Given the description of an element on the screen output the (x, y) to click on. 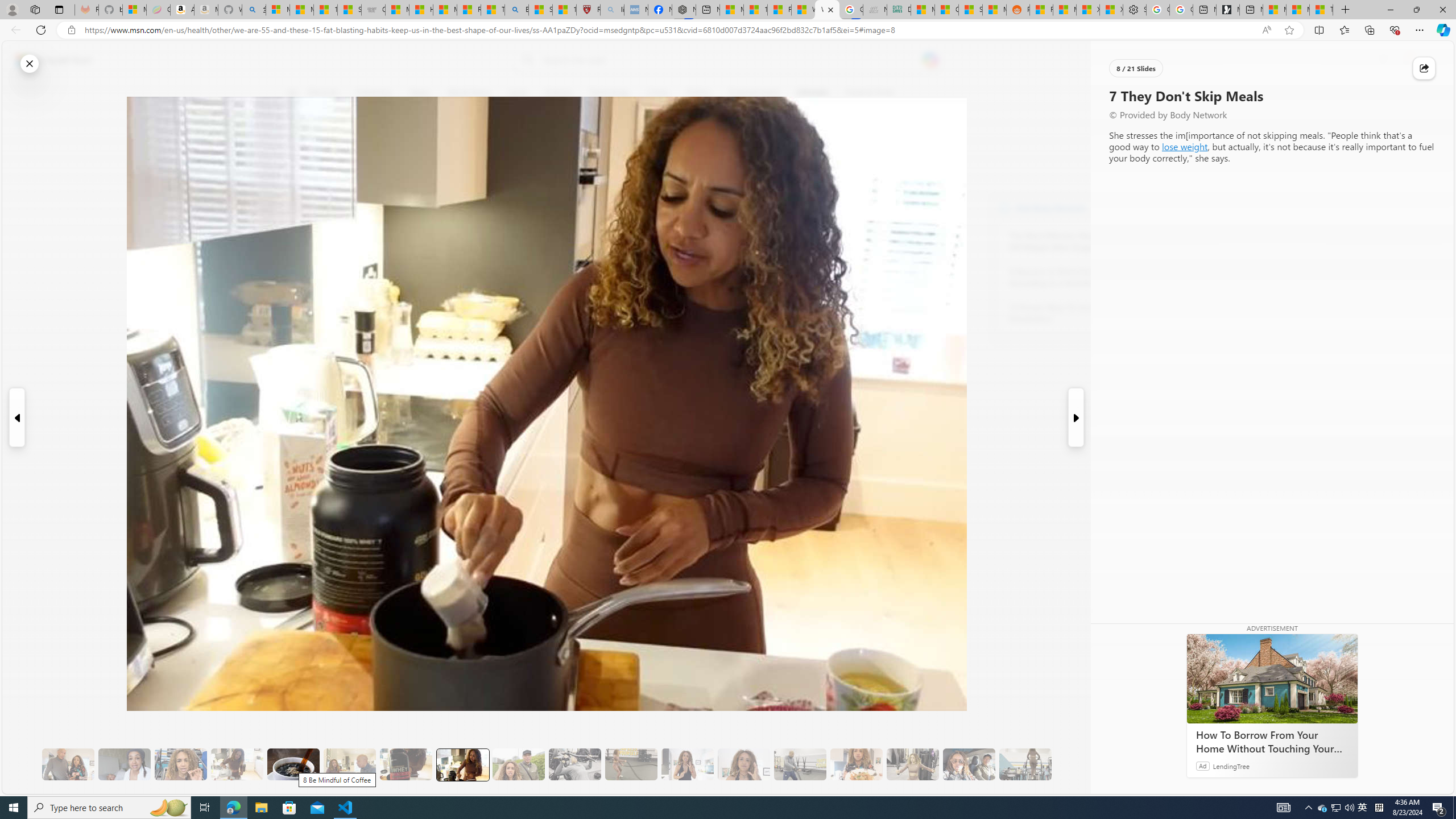
Nordace - Nordace Siena Is Not An Ordinary Backpack (683, 9)
Fitness - MSN (779, 9)
Workspaces (34, 9)
Microsoft Start (1297, 9)
Personalize (1132, 92)
8 Reasons to Drink Kombucha, According to a Nutritionist (1071, 277)
Microsoft Start (53, 60)
Refresh (40, 29)
Open Copilot (930, 59)
New tab (1251, 9)
Lifestyle (812, 92)
Following (373, 92)
